Given the description of an element on the screen output the (x, y) to click on. 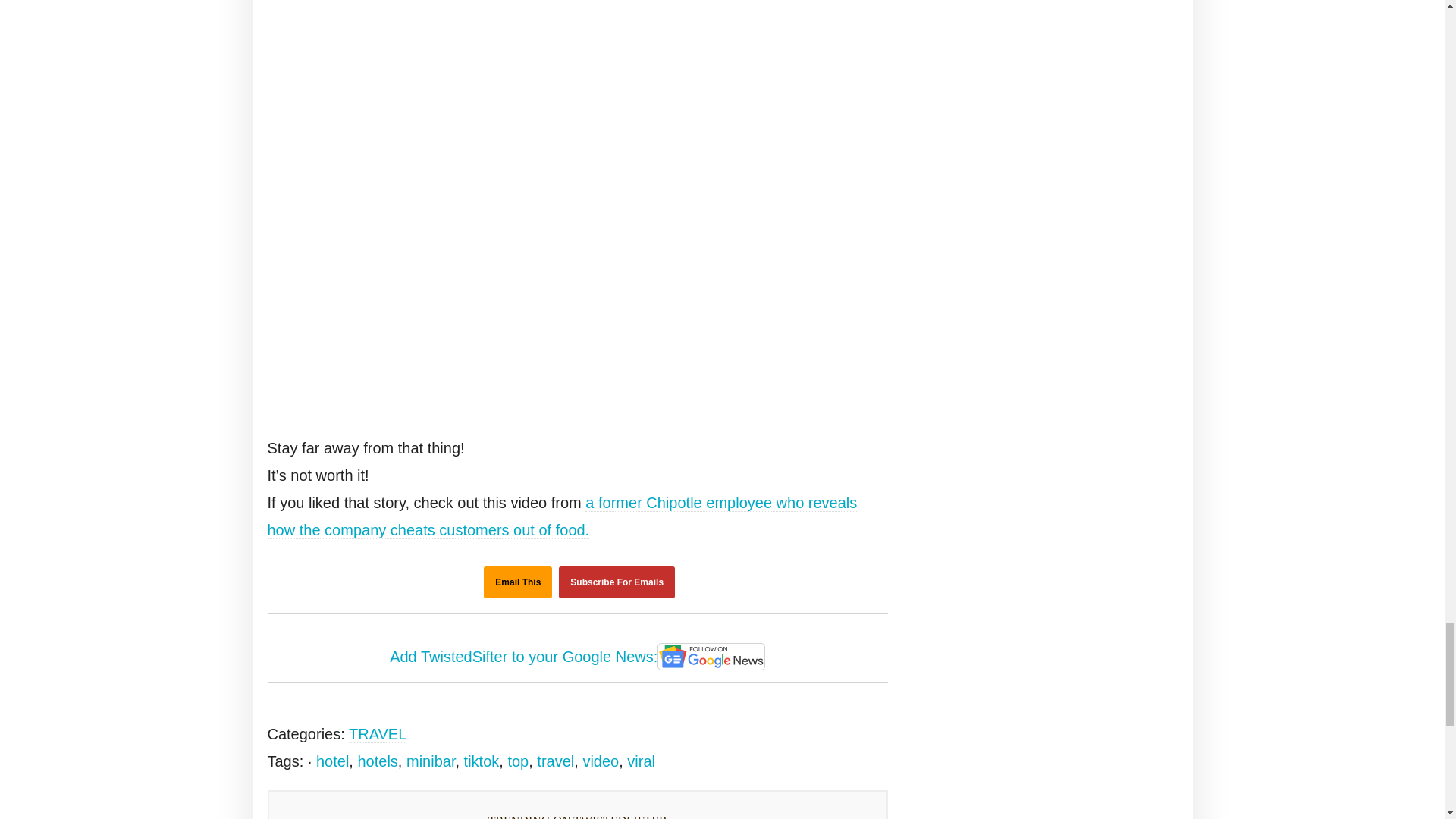
TRAVEL (377, 733)
Add TwistedSifter to your Google News: (577, 657)
Email This (517, 582)
Google News (711, 656)
Subscribe For Emails (617, 582)
hotels (376, 761)
hotel (332, 761)
minibar (430, 761)
